Given the description of an element on the screen output the (x, y) to click on. 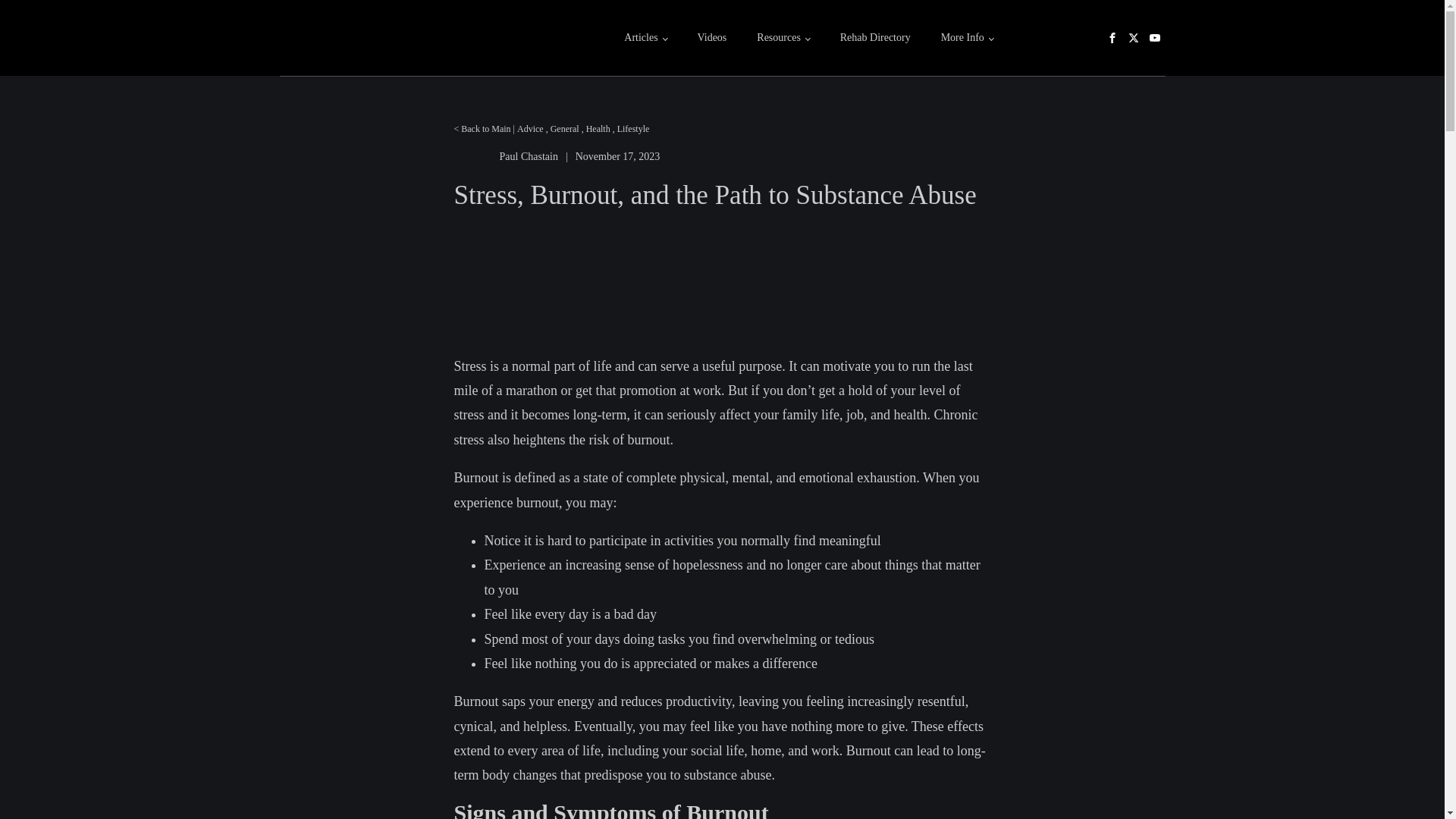
Videos (711, 37)
Articles (644, 37)
More Info (967, 37)
Resources (782, 37)
Rehab Directory (875, 37)
